Given the description of an element on the screen output the (x, y) to click on. 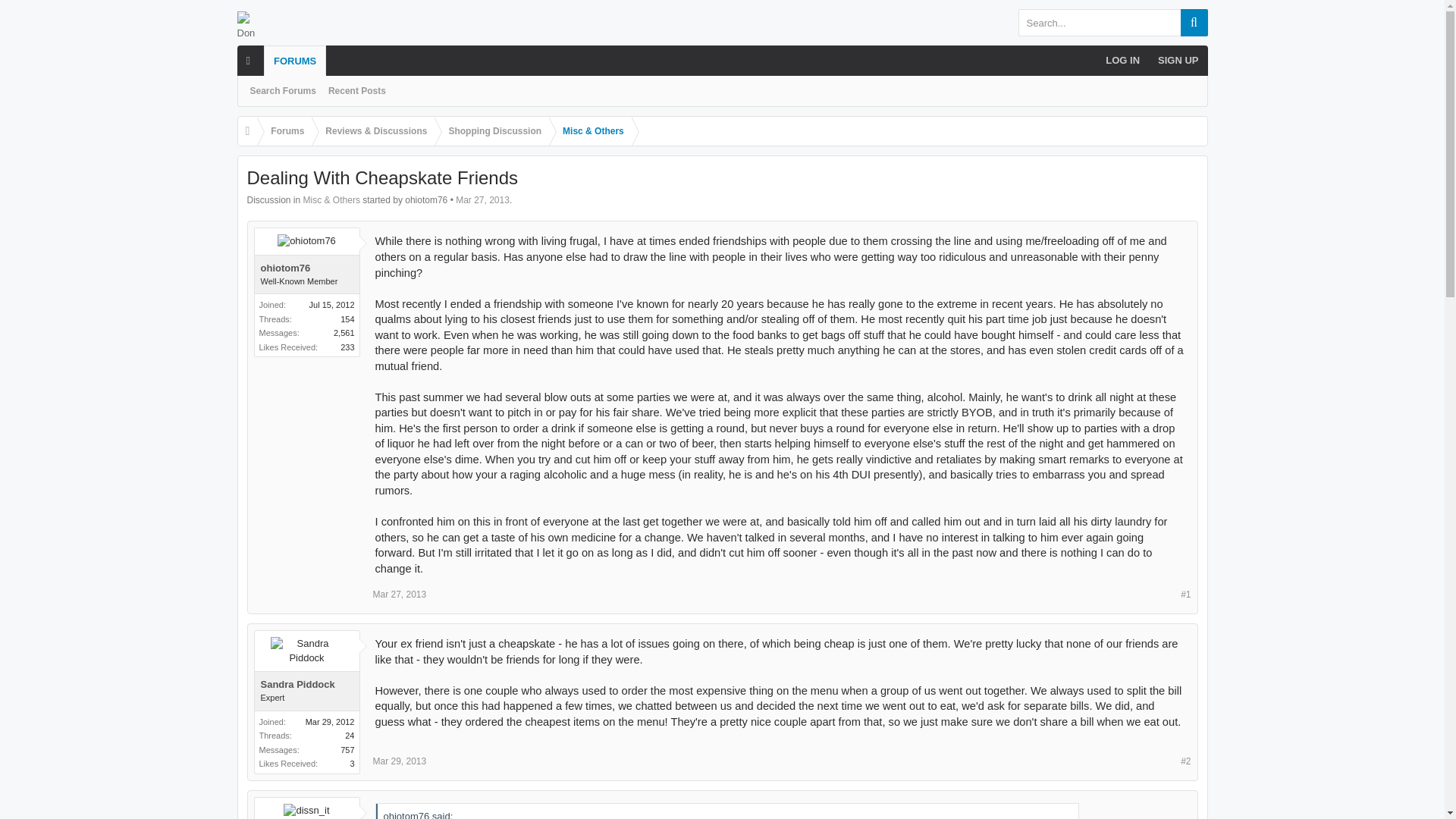
Recent Posts (356, 91)
FRIENDS DON'T LET FRIENDS PAY FULL (343, 55)
Shopping Discussion (490, 131)
Permalink (399, 760)
Permalink (399, 593)
Forums (284, 131)
SIGN UP (1177, 60)
Mar 29, 2013 (399, 760)
Enter your search and hit enter (1112, 22)
Mar 27, 2013 (482, 199)
